Given the description of an element on the screen output the (x, y) to click on. 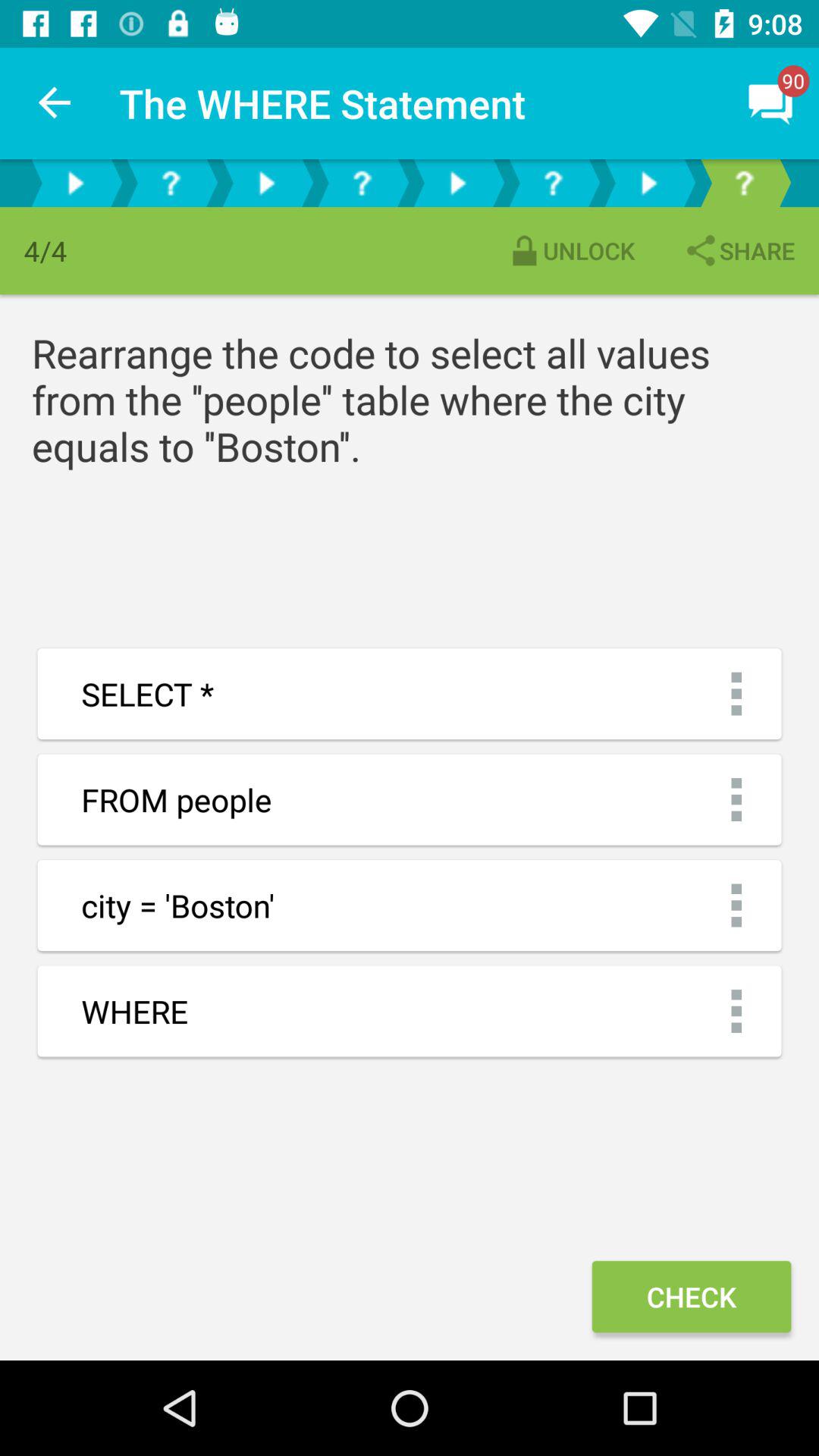
go back to first step (170, 183)
